Given the description of an element on the screen output the (x, y) to click on. 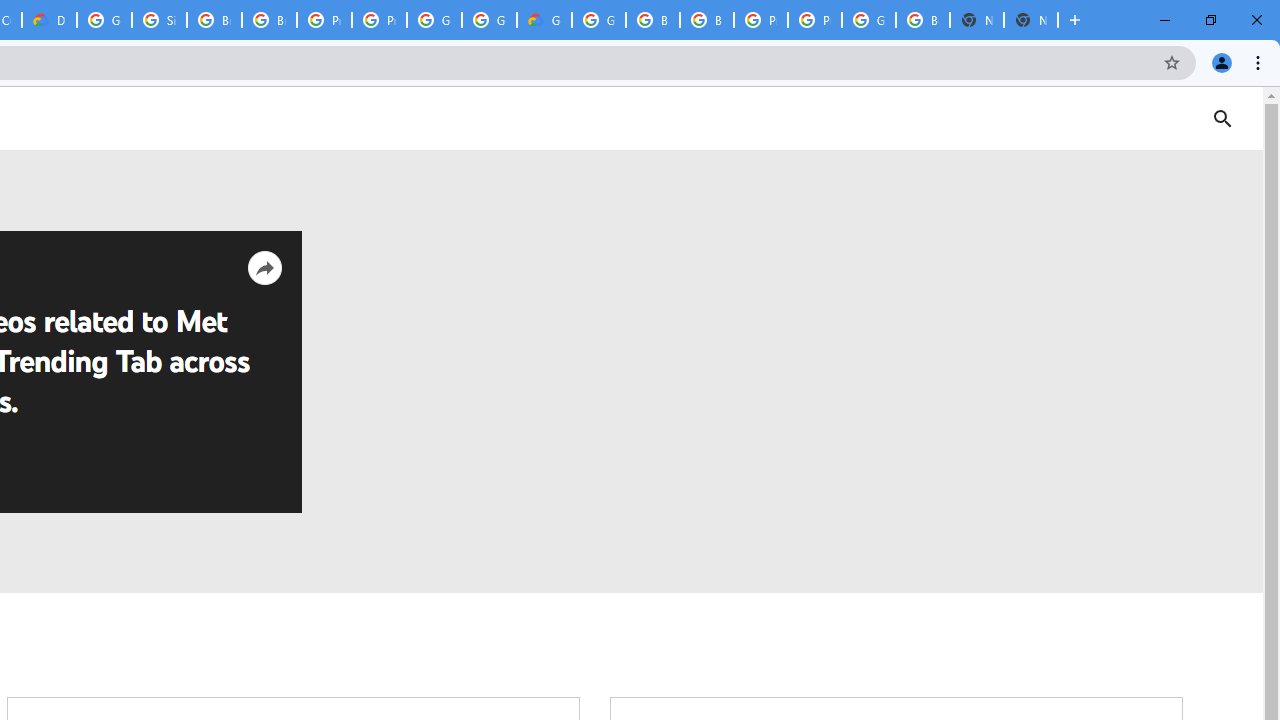
Google Cloud Platform (489, 20)
Sign in - Google Accounts (158, 20)
Google Cloud Platform (598, 20)
Google Cloud Estimate Summary (544, 20)
Browse Chrome as a guest - Computer - Google Chrome Help (652, 20)
Browse Chrome as a guest - Computer - Google Chrome Help (213, 20)
Browse Chrome as a guest - Computer - Google Chrome Help (268, 20)
